Given the description of an element on the screen output the (x, y) to click on. 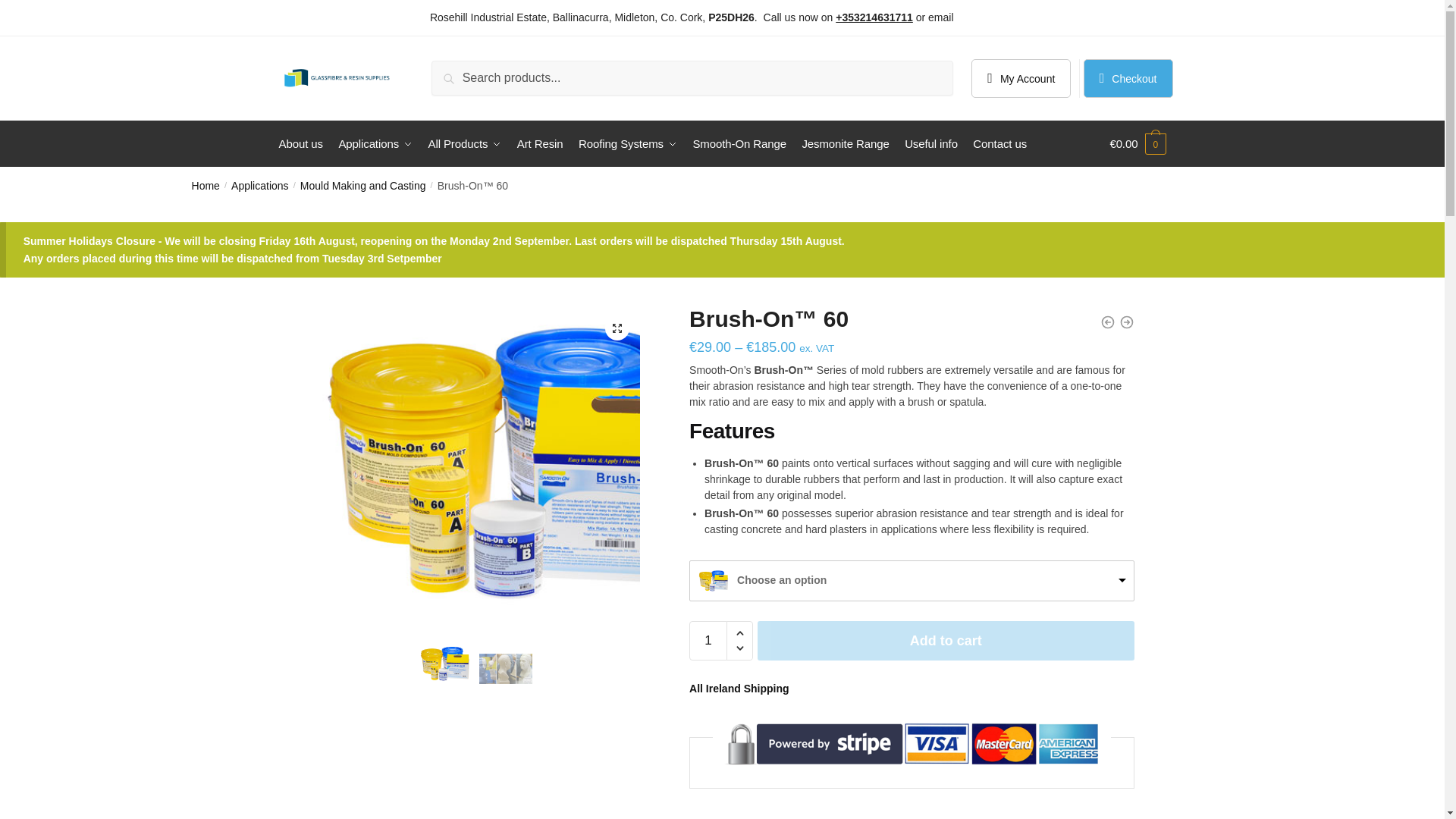
1 (707, 640)
Search (468, 77)
My Account (1020, 77)
Applications (376, 144)
All Products (464, 144)
View your shopping cart (1137, 144)
Checkout (1128, 77)
About us (304, 144)
